Given the description of an element on the screen output the (x, y) to click on. 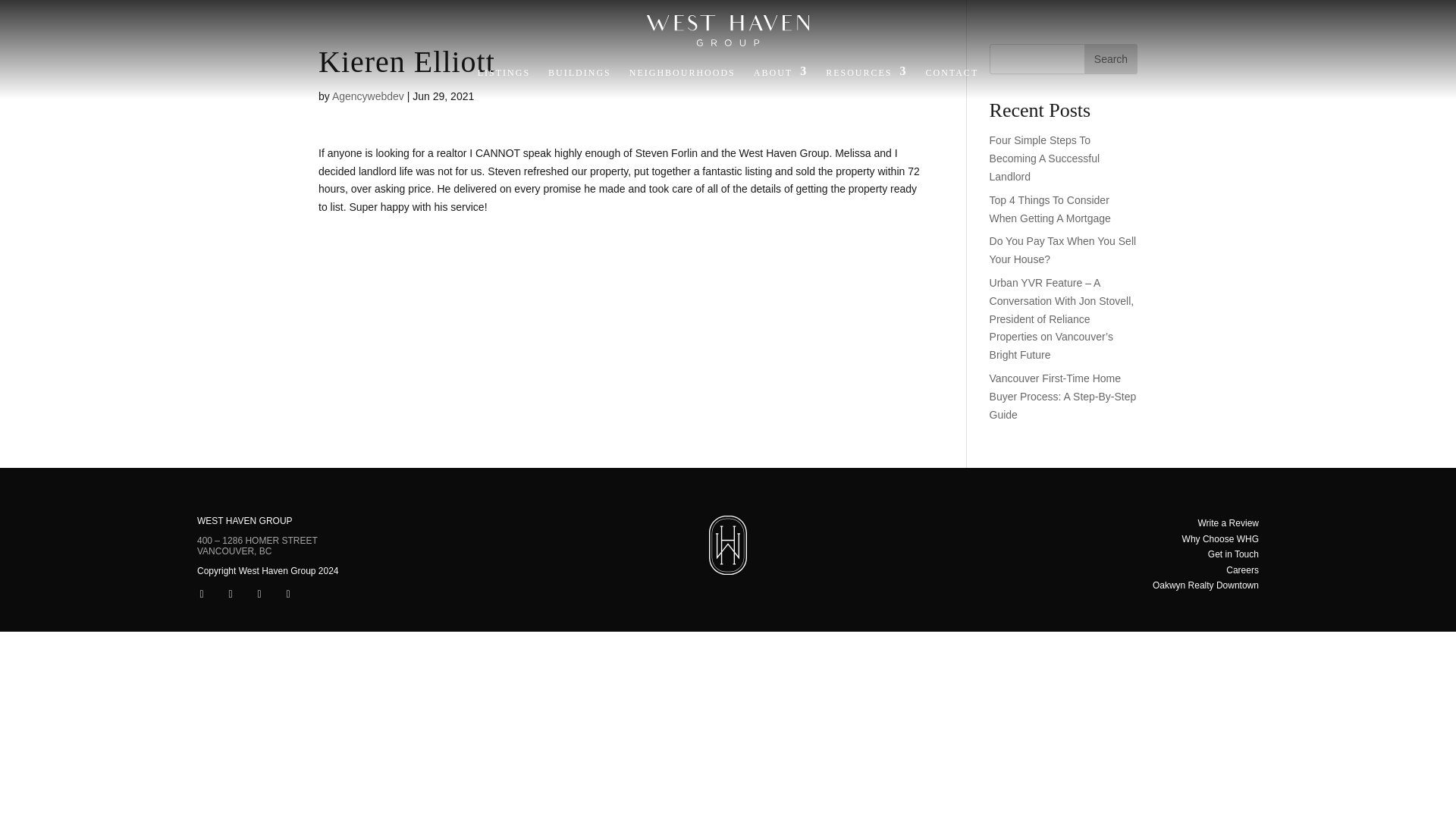
Follow on Instagram (230, 594)
LISTINGS (503, 75)
logo-name-white (727, 30)
BUILDINGS (579, 75)
Posts by Agencywebdev (367, 96)
CONTACT (951, 75)
RESOURCES (866, 75)
ABOUT (781, 75)
NEIGHBOURHOODS (681, 75)
Follow on Facebook (201, 594)
Search (1110, 59)
Follow on LinkedIn (258, 594)
Follow on Youtube (288, 594)
